Given the description of an element on the screen output the (x, y) to click on. 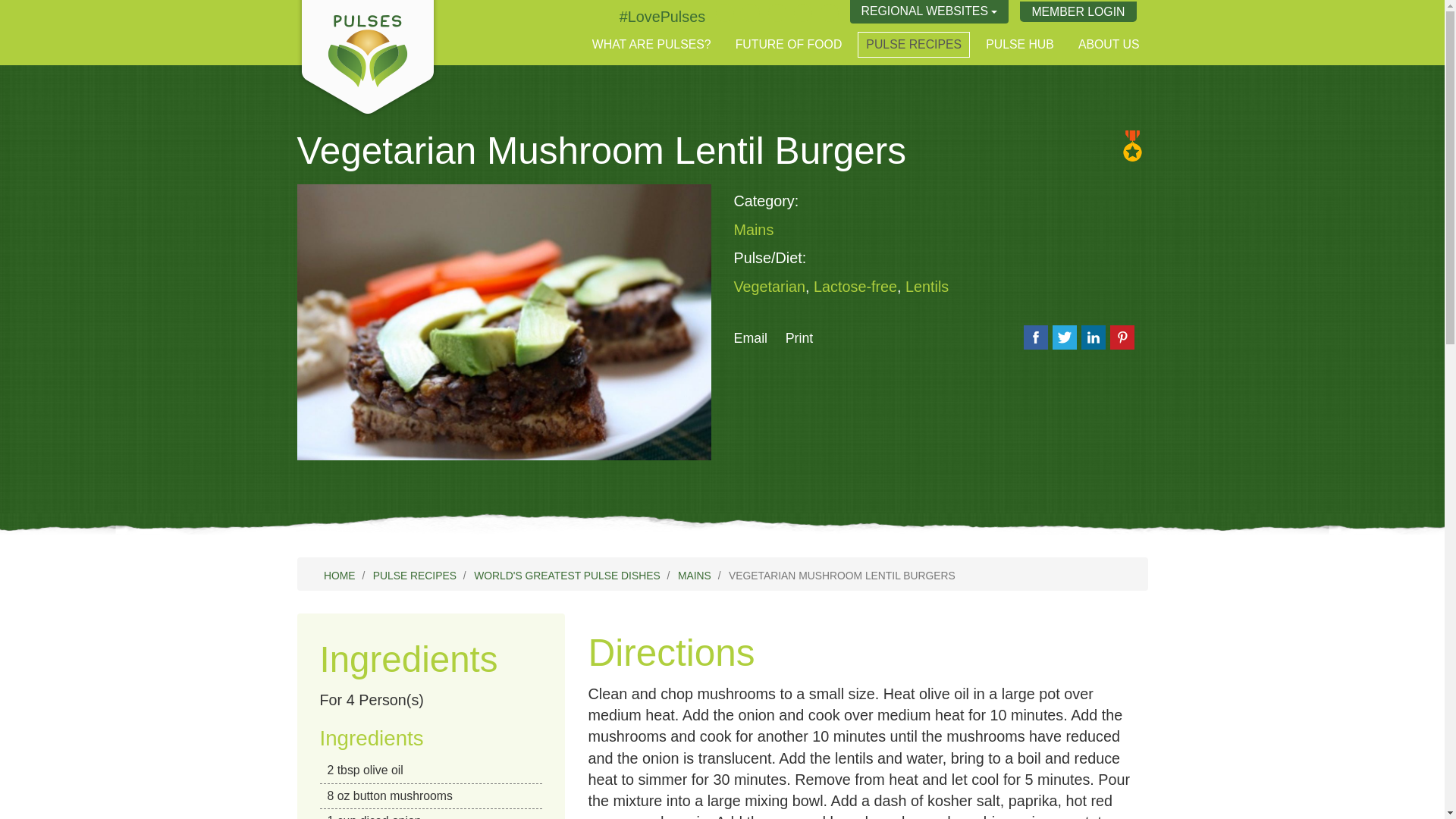
Share on Twitter (1064, 337)
Mains (753, 229)
Share on Facebook (1035, 337)
Twitter (662, 16)
Share on LinkedIn (1093, 337)
Lactose-free (854, 286)
Lentils (927, 286)
Print (799, 337)
Email (750, 337)
Vegetarian (769, 286)
